Given the description of an element on the screen output the (x, y) to click on. 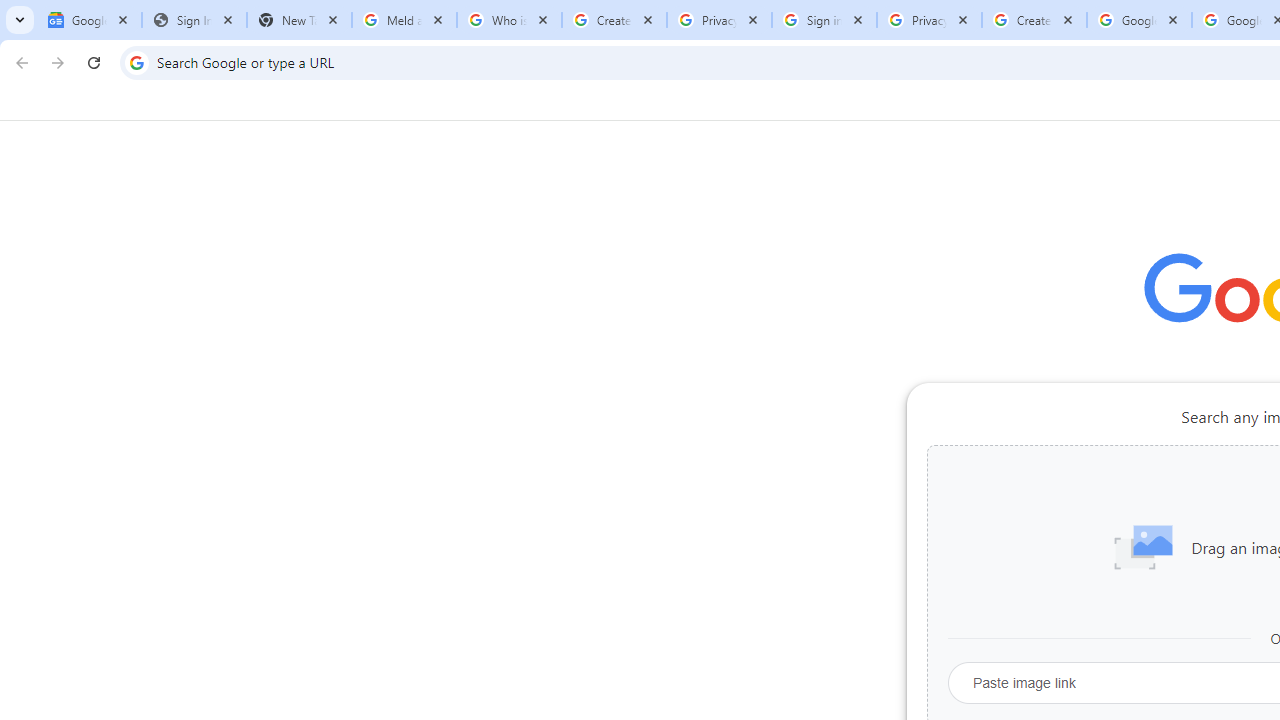
Create your Google Account (1033, 20)
Who is my administrator? - Google Account Help (509, 20)
Chrome Web Store (1167, 504)
More actions for Sign in shortcut (1095, 466)
New Tab (299, 20)
